Given the description of an element on the screen output the (x, y) to click on. 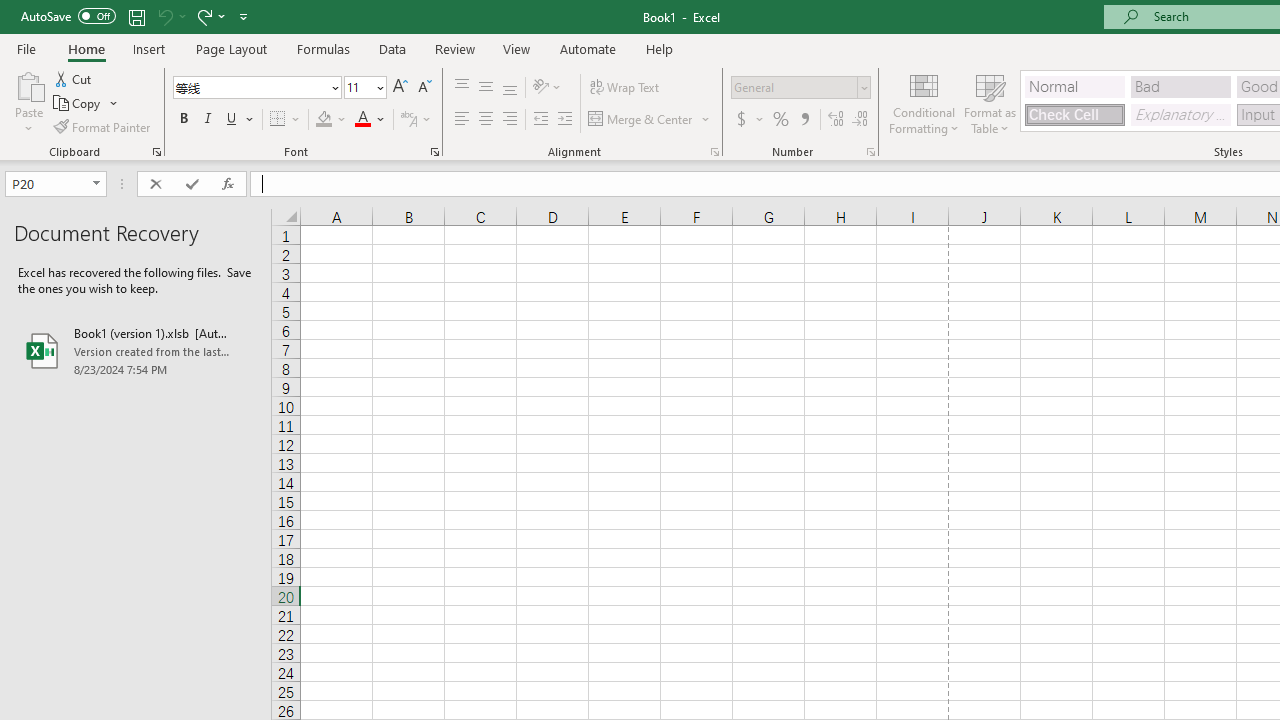
Decrease Decimal (859, 119)
Font (256, 87)
Show Phonetic Field (416, 119)
Font Size (365, 87)
Center (485, 119)
Bad (1180, 86)
Format Cell Alignment (714, 151)
Orientation (547, 87)
Decrease Indent (540, 119)
Middle Align (485, 87)
Increase Font Size (399, 87)
Paste (28, 102)
Conditional Formatting (924, 102)
